Given the description of an element on the screen output the (x, y) to click on. 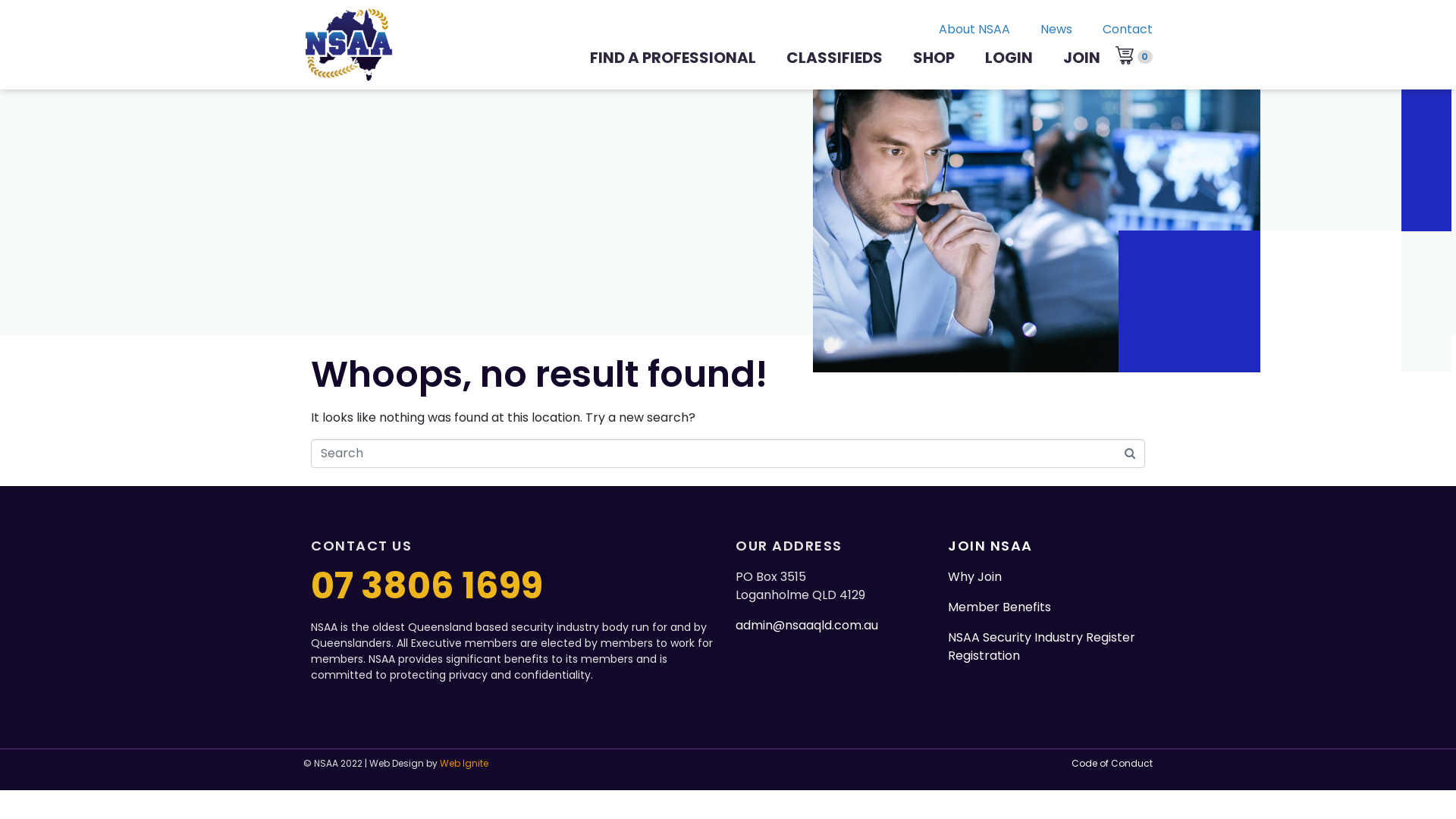
JOIN Element type: text (1081, 57)
JOIN NSAA Element type: text (989, 545)
News Element type: text (1041, 32)
FIND A PROFESSIONAL Element type: text (672, 57)
Why Join Element type: text (974, 576)
LOGIN Element type: text (1008, 57)
NSAA Security Industry Register Registration Element type: text (1041, 646)
CLASSIFIEDS Element type: text (834, 57)
admin@nsaaqld.com.au Element type: text (806, 624)
About NSAA Element type: text (959, 32)
Member Benefits Element type: text (999, 606)
0 Element type: text (1133, 56)
Contact Element type: text (1112, 32)
Web Ignite Element type: text (463, 762)
Code of Conduct Element type: text (1111, 762)
SHOP Element type: text (933, 57)
07 3806 1699 Element type: text (426, 585)
